Given the description of an element on the screen output the (x, y) to click on. 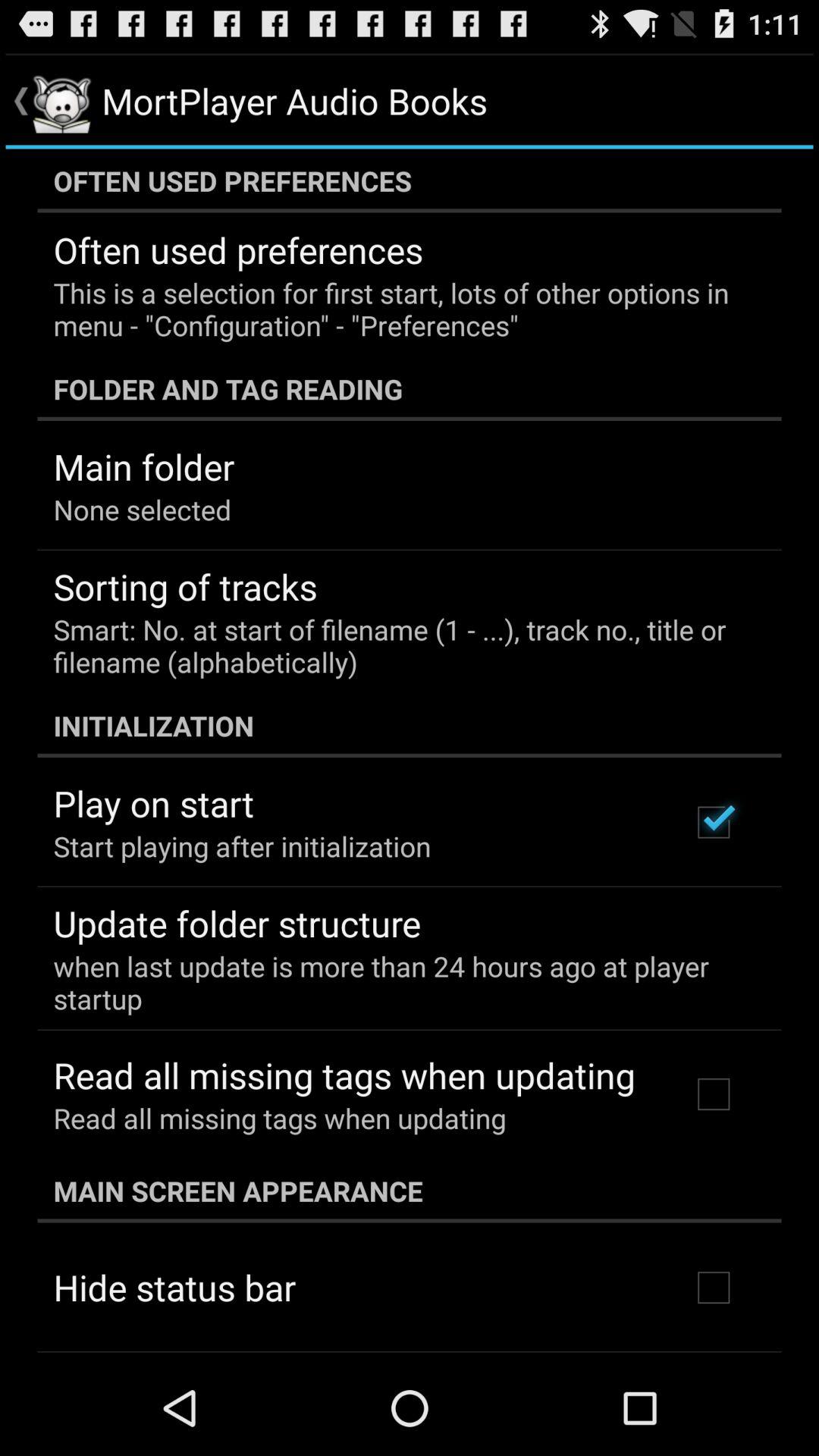
turn on the app below the folder and tag app (143, 466)
